Given the description of an element on the screen output the (x, y) to click on. 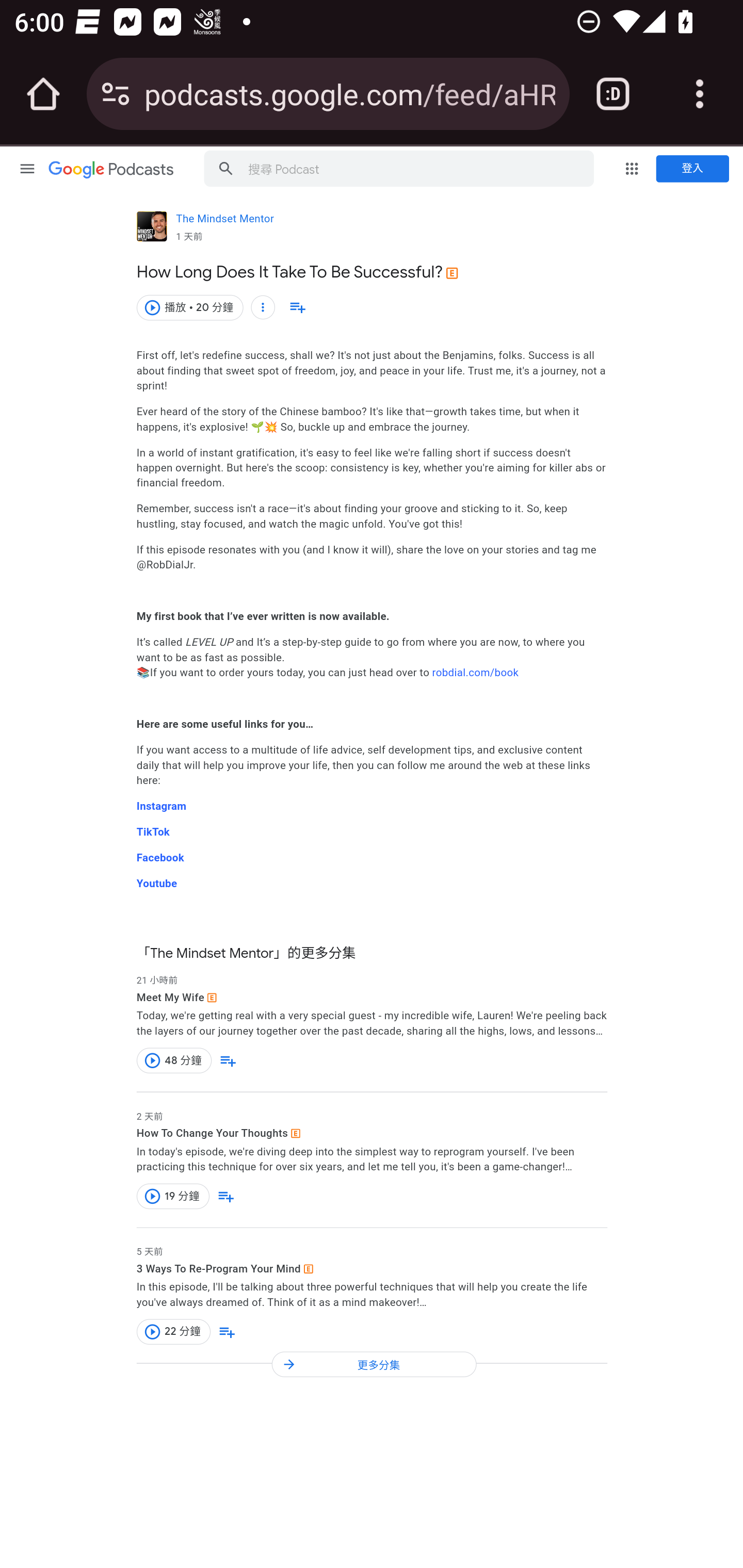
Open the home page (43, 93)
Connection is secure (115, 93)
Switch or close tabs (612, 93)
Customize and control Google Chrome (699, 93)
主選單 (27, 168)
搜尋 (225, 167)
Google Apps (631, 168)
登入 (692, 169)
Google Podcasts Podcasts (111, 170)
The Mindset Mentor (151, 227)
The Mindset Mentor (225, 221)
加入序列 (297, 306)
播放此分集 (151, 306)
 robdial.com/book (473, 672)
Instagram  (162, 805)
TikTok (152, 832)
Facebook (159, 857)
Youtube (156, 884)
加入序列 (227, 1060)
播放此分集 (151, 1060)
加入序列 (225, 1195)
播放此分集 (151, 1195)
加入序列 (227, 1331)
播放此分集 (151, 1330)
更多分集 (374, 1364)
